Given the description of an element on the screen output the (x, y) to click on. 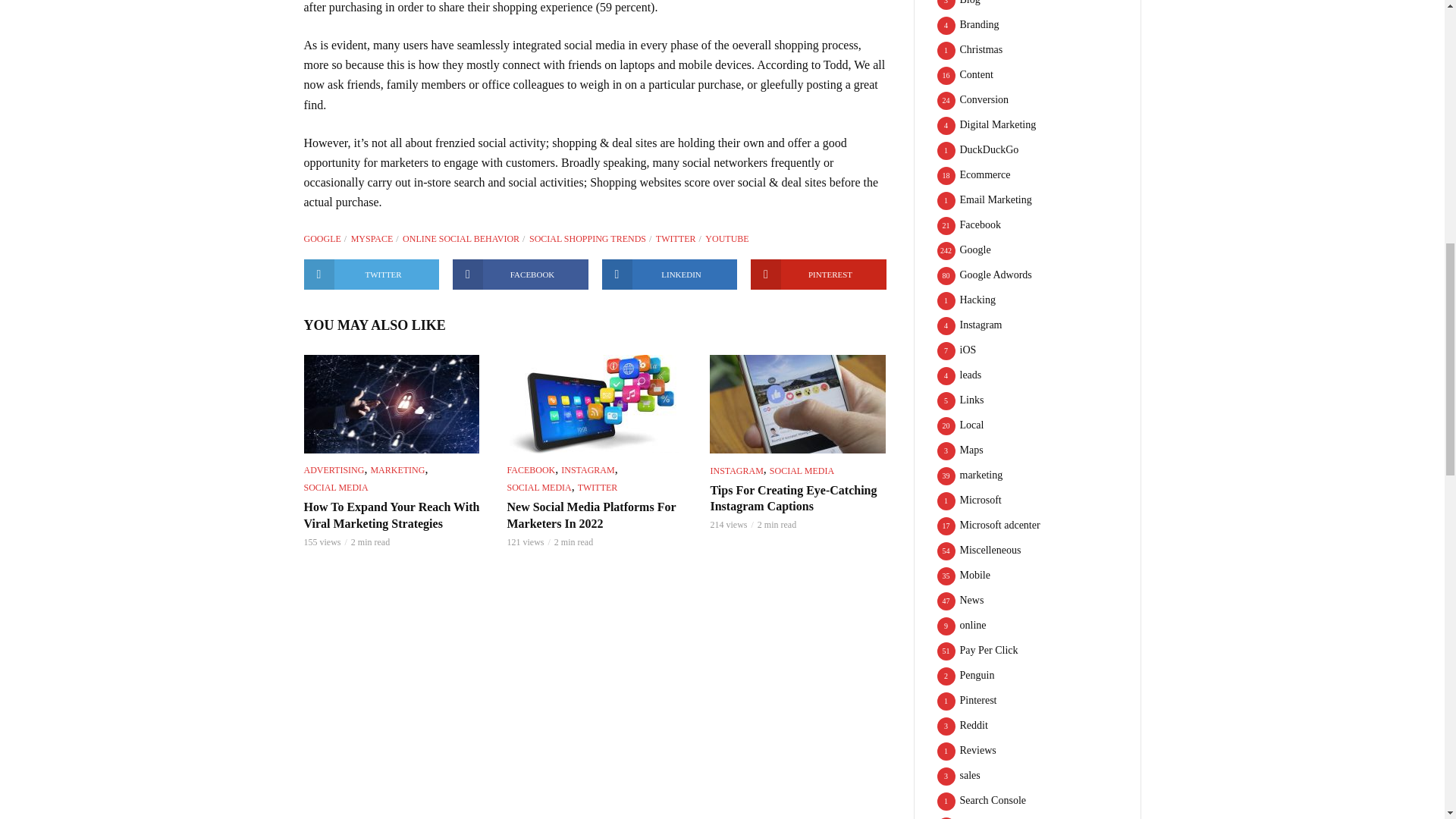
How To Expand Your Reach With Viral Marketing Strategies (390, 403)
Tips For Creating Eye-Catching Instagram Captions (797, 403)
New Social Media Platforms For Marketers In 2022 (594, 403)
